Given the description of an element on the screen output the (x, y) to click on. 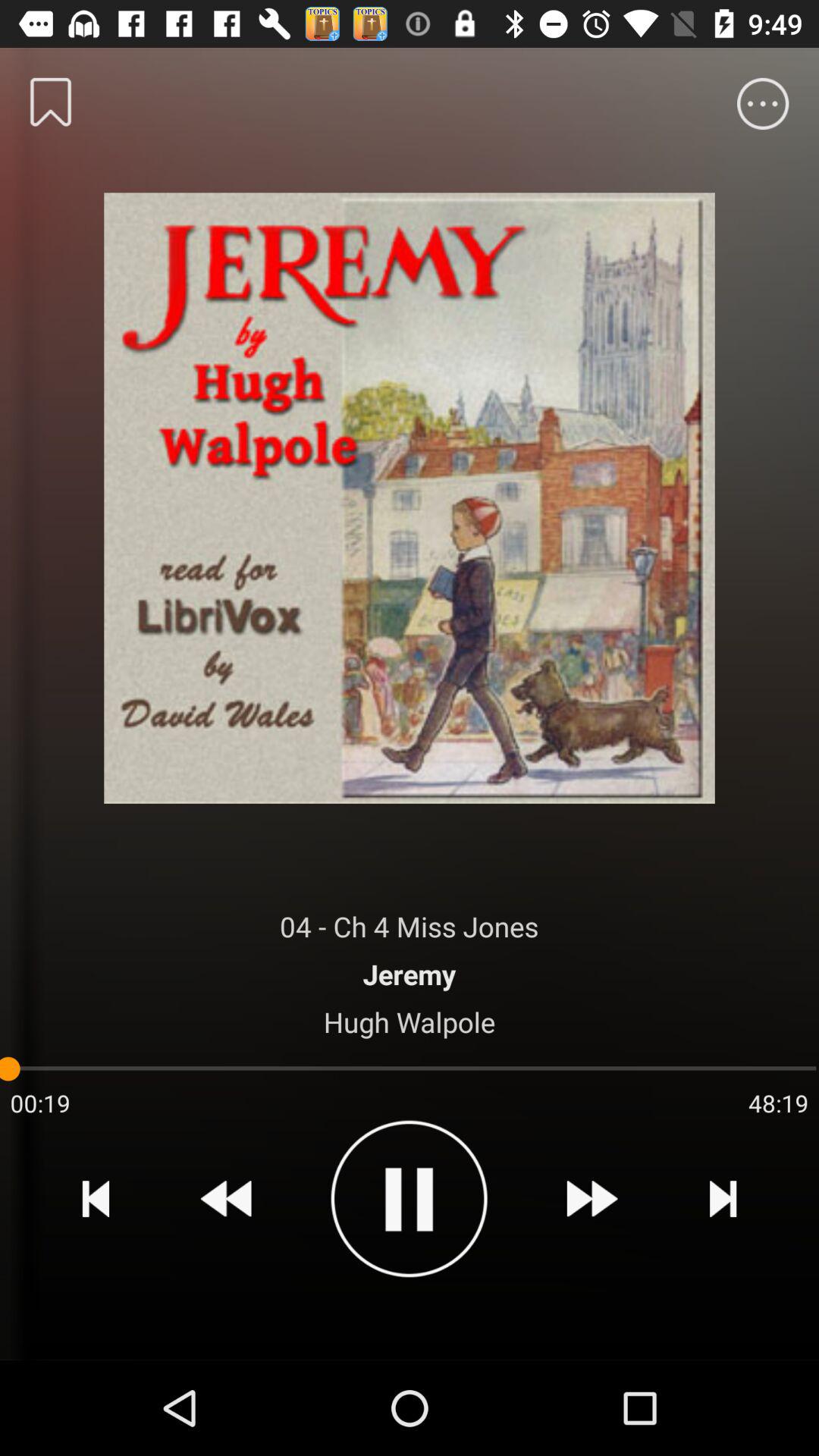
choose the hugh walpole icon (409, 1021)
